Given the description of an element on the screen output the (x, y) to click on. 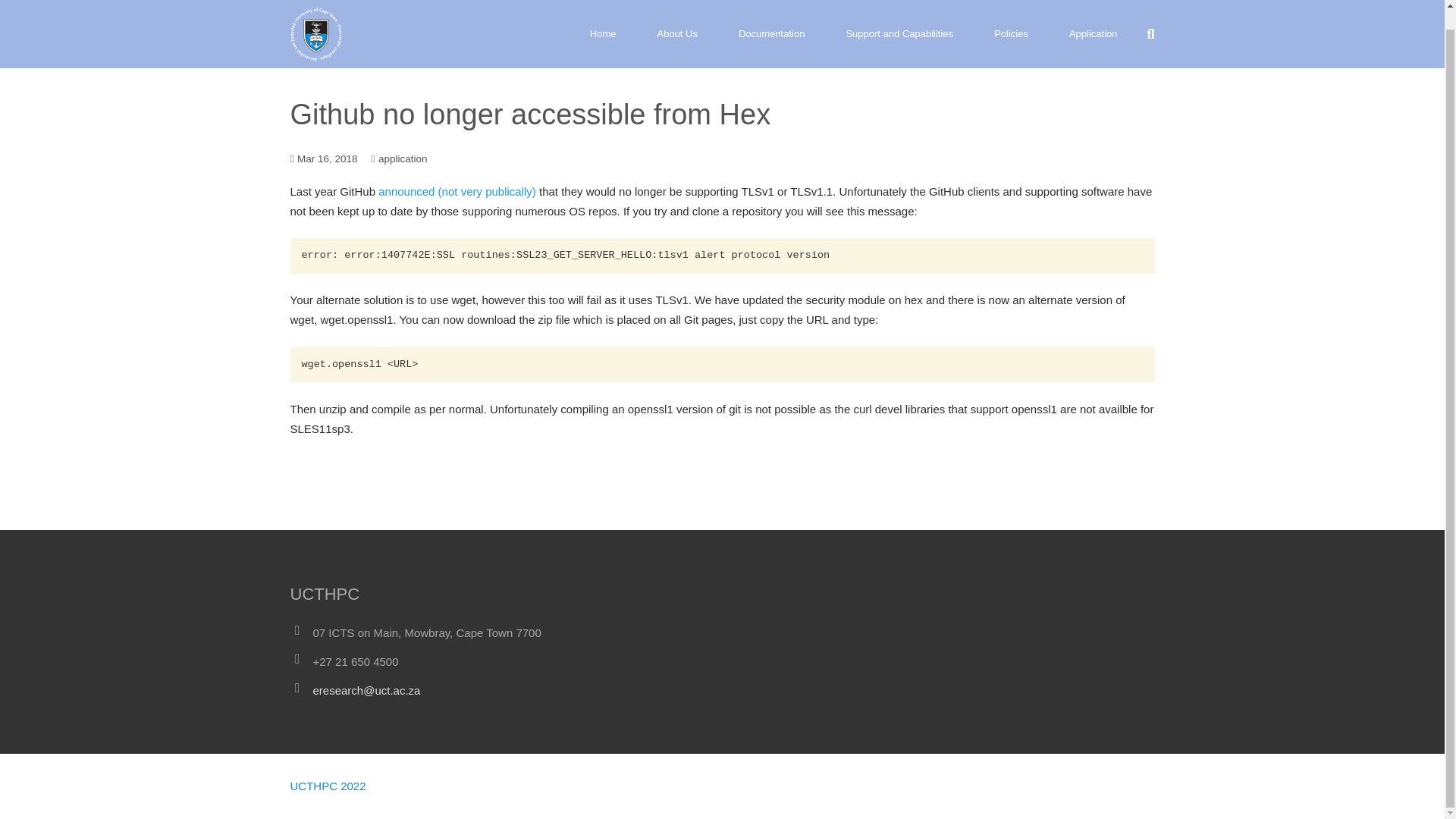
About Us (677, 24)
Policies (1011, 24)
Documentation (771, 24)
Home (603, 24)
Application (1093, 24)
application (403, 158)
Support and Capabilities (899, 24)
